Given the description of an element on the screen output the (x, y) to click on. 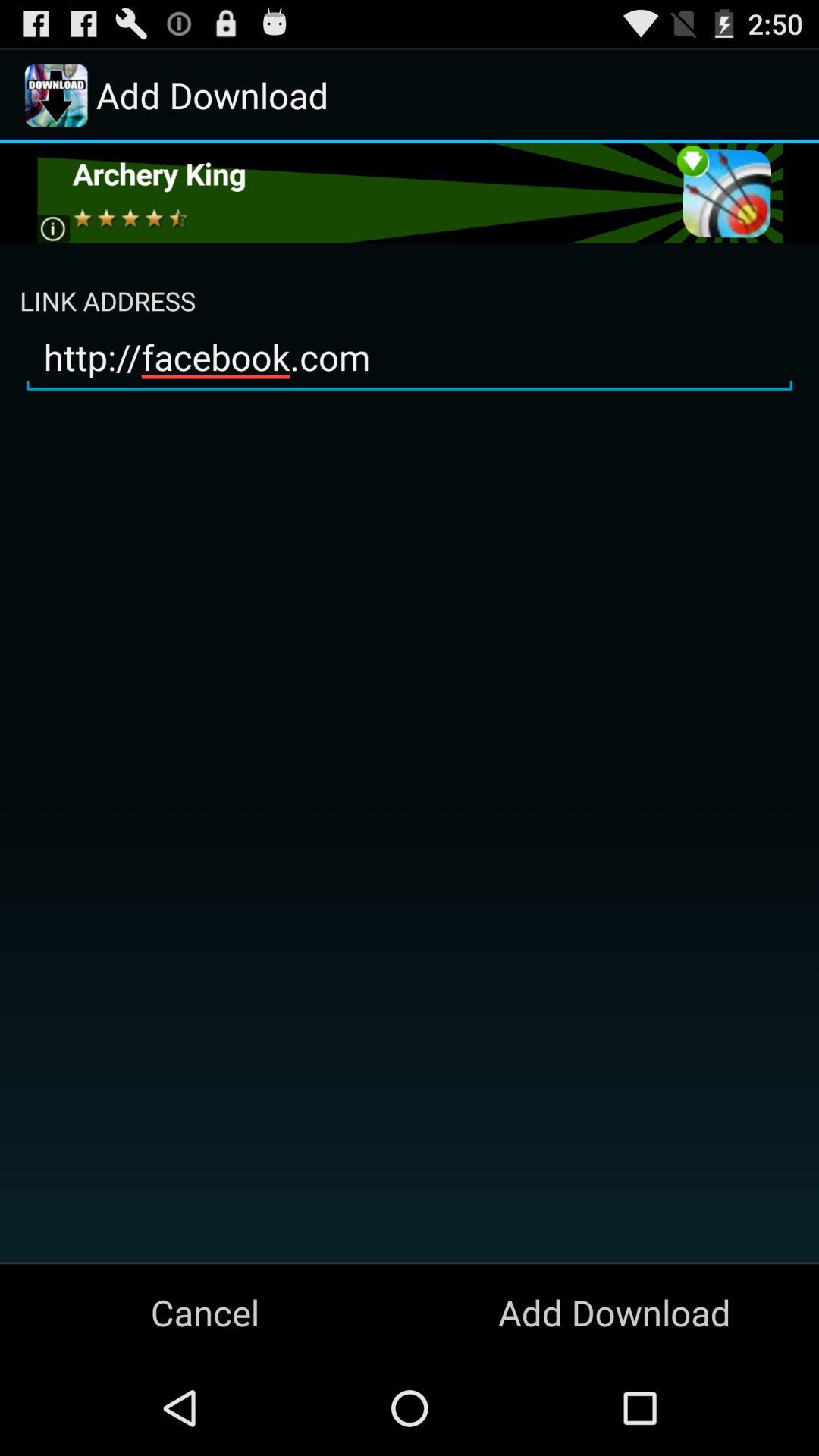
open archery king (408, 192)
